Given the description of an element on the screen output the (x, y) to click on. 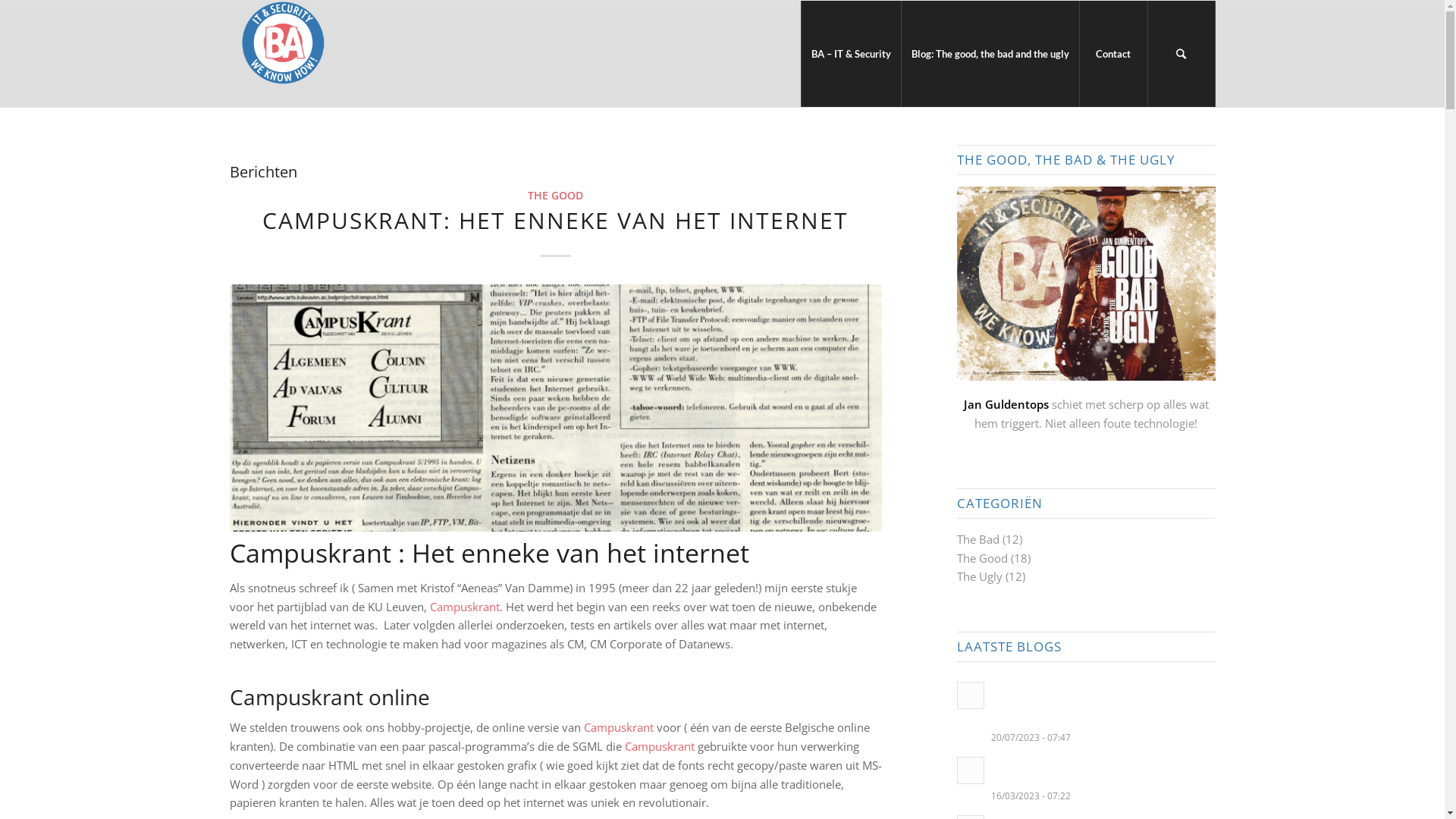
Campuskrant: Het enneke van het internet Element type: hover (555, 408)
The Bad Element type: text (978, 538)
Blog: The good, the bad and the ugly Element type: text (989, 53)
Contact Element type: text (1112, 53)
Campuskrant Element type: text (618, 726)
Campuskrant Element type: text (463, 606)
THE GOOD Element type: text (555, 195)
The Good Element type: text (982, 557)
Campuskrant Element type: text (659, 745)
CAMPUSKRANT: HET ENNEKE VAN HET INTERNET Element type: text (555, 219)
The Ugly Element type: text (979, 575)
